Given the description of an element on the screen output the (x, y) to click on. 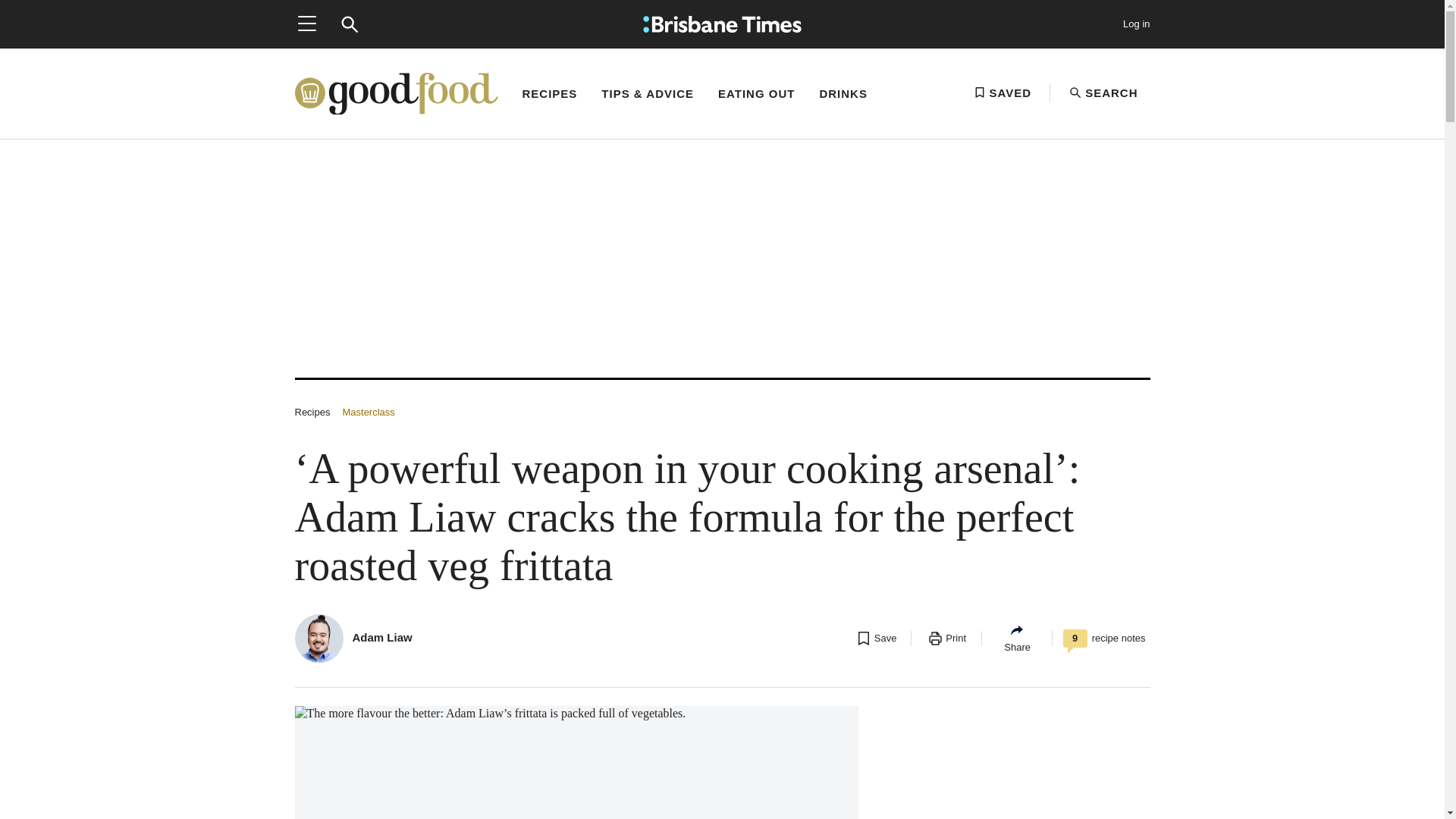
Share (1016, 637)
Log in (1136, 24)
Search (348, 24)
Save (875, 638)
Masterclass (368, 411)
SAVED (1001, 93)
EATING OUT (755, 108)
SEARCH (1103, 93)
Adam Liaw (382, 636)
Print (946, 638)
Good Food logo (395, 93)
Good Food logo (395, 92)
RECIPES (548, 108)
Expand navigation menu (306, 24)
Recipes (312, 411)
